Given the description of an element on the screen output the (x, y) to click on. 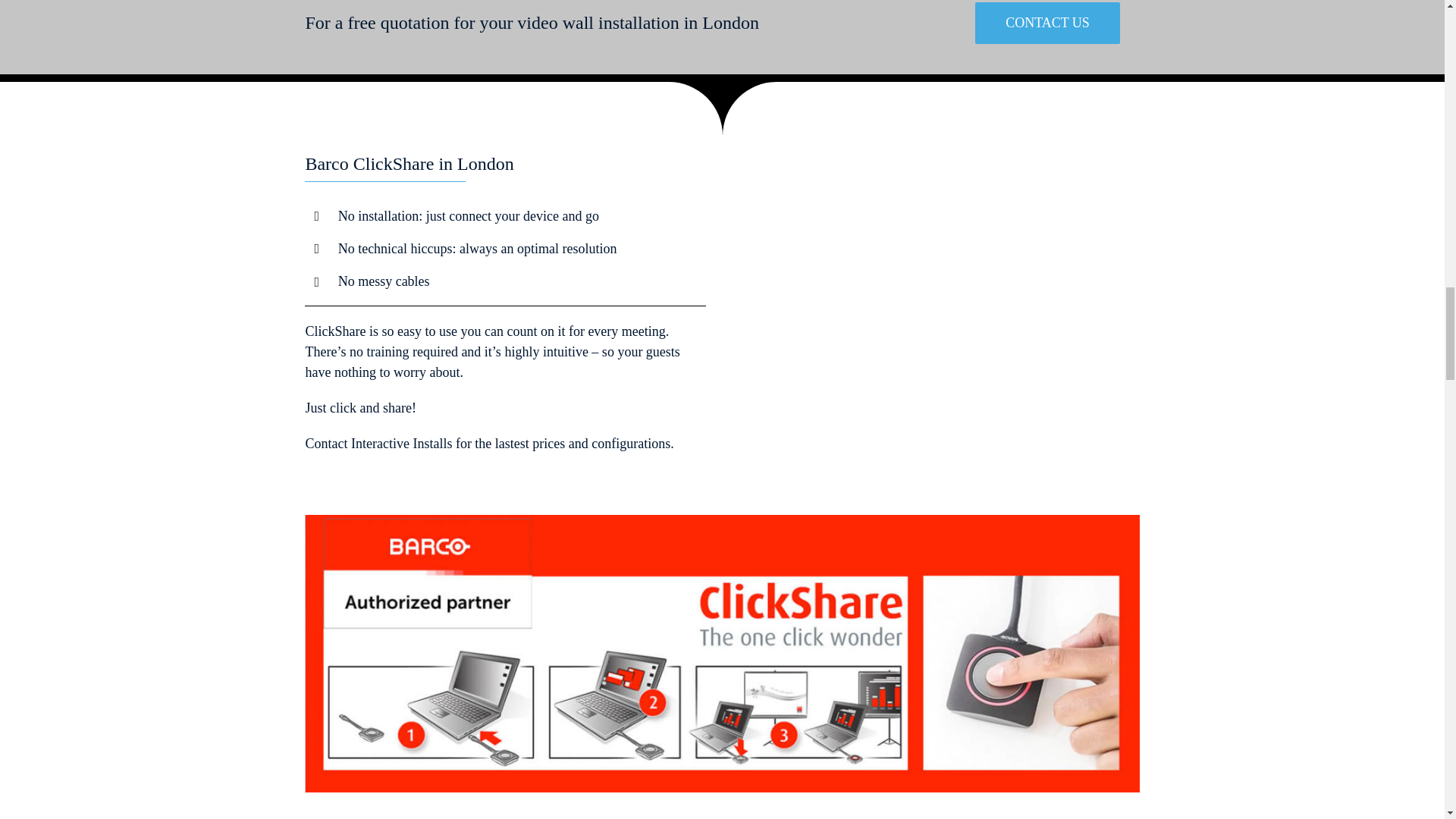
CONTACT US (1047, 23)
YouTube video player 2 (938, 301)
